Given the description of an element on the screen output the (x, y) to click on. 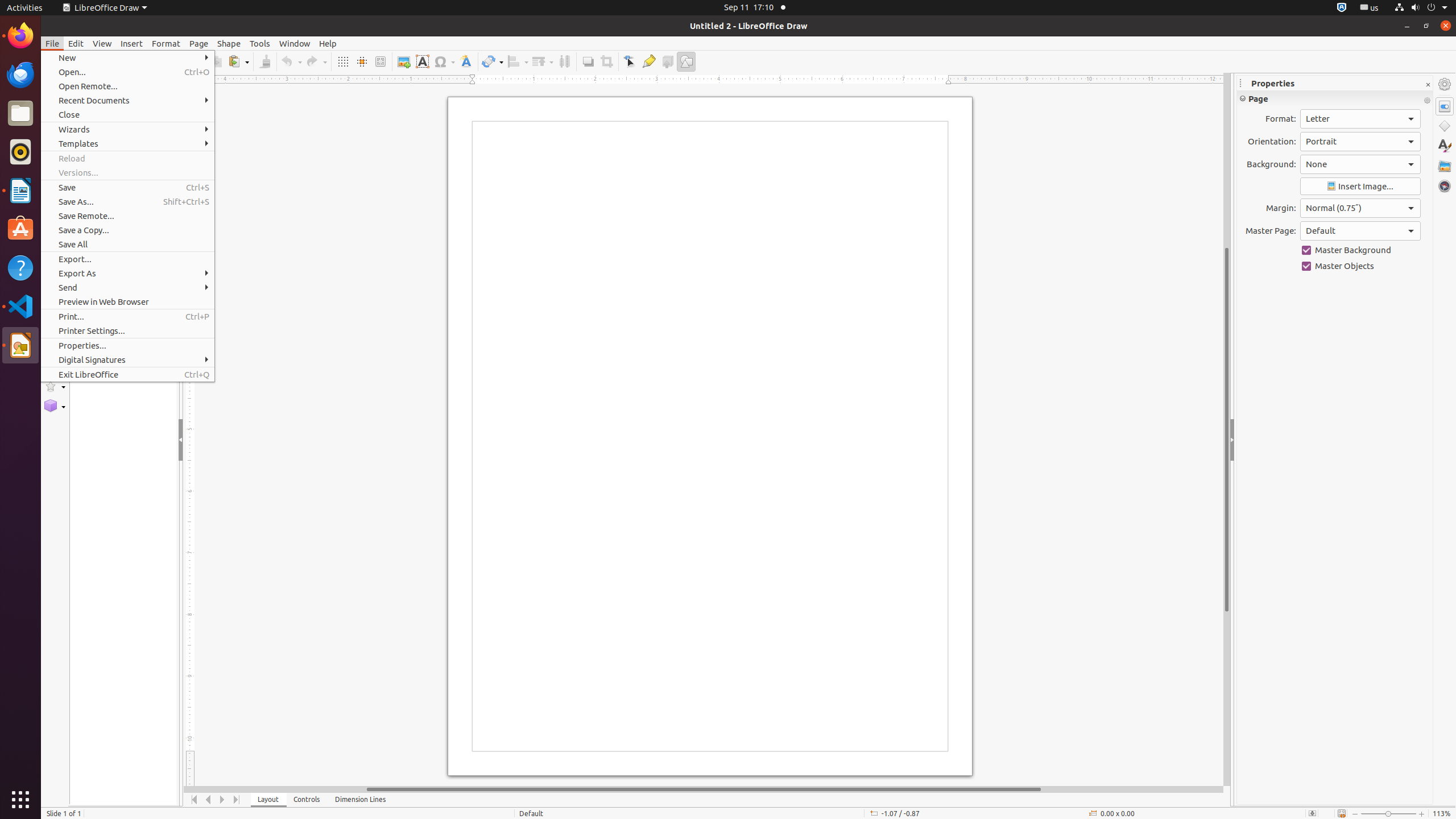
Distribution Element type: push-button (564, 61)
Digital Signatures Element type: menu (127, 359)
Styles Element type: radio-button (1444, 146)
Orientation: Element type: combo-box (1360, 141)
Save Remote... Element type: menu-item (127, 215)
